Given the description of an element on the screen output the (x, y) to click on. 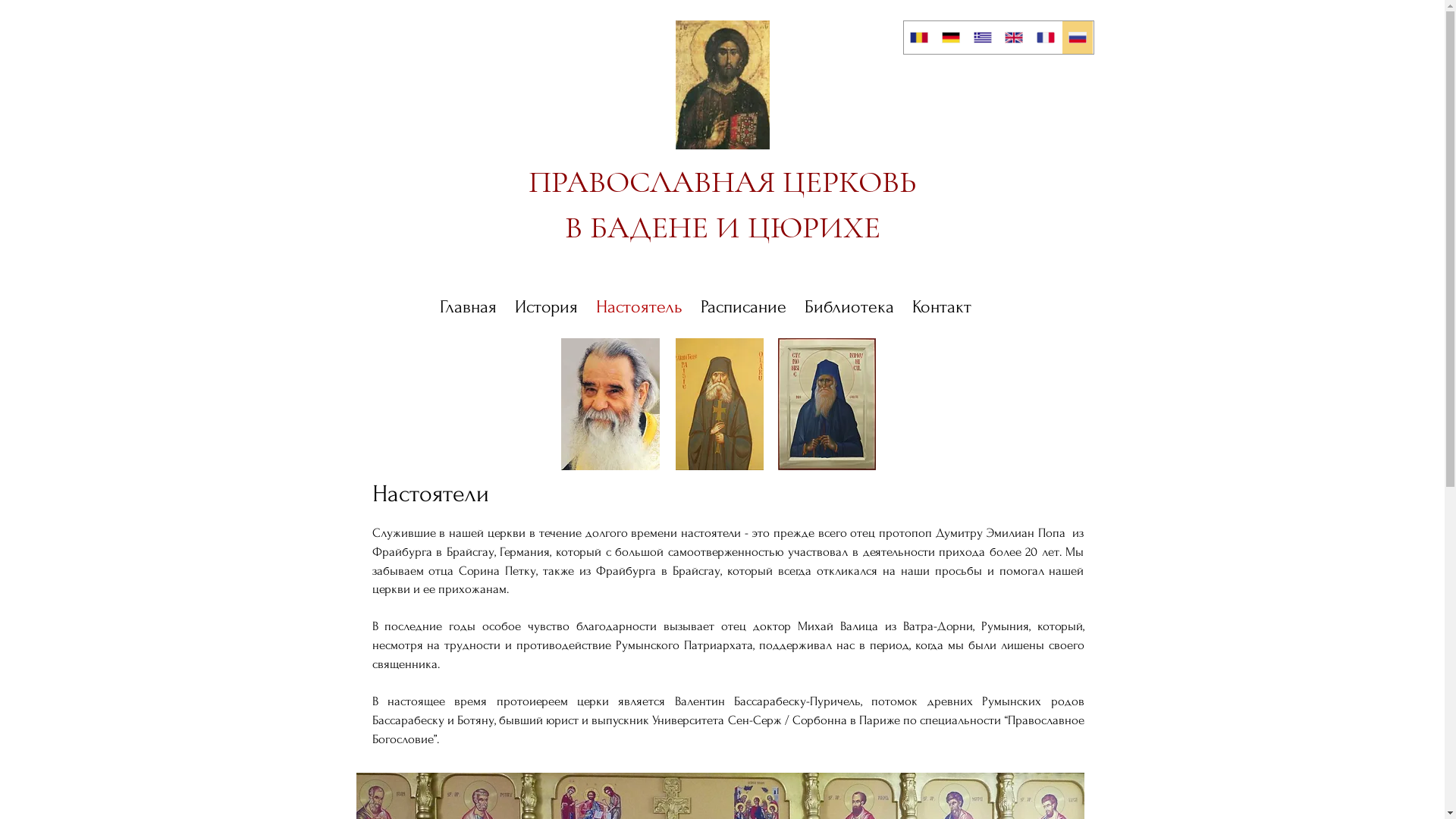
SFDionisieIgnat.jpg Element type: hover (826, 404)
SfPaisieOlaru.jpg Element type: hover (718, 404)
Parintele-Galeriu-intruchiparea-daruirii Element type: hover (610, 404)
